Given the description of an element on the screen output the (x, y) to click on. 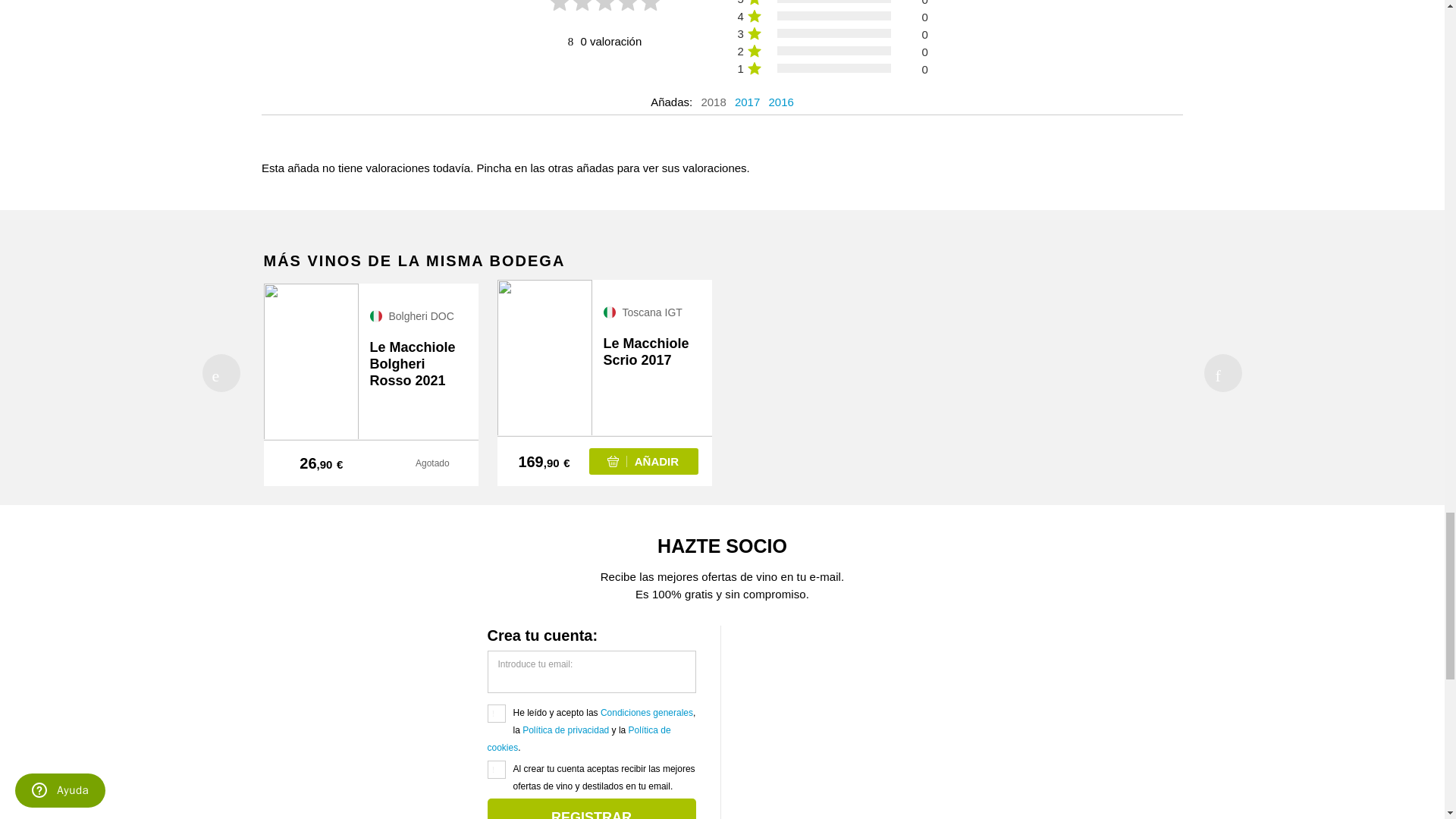
Registrar (590, 808)
1 (495, 713)
1 (495, 769)
